Given the description of an element on the screen output the (x, y) to click on. 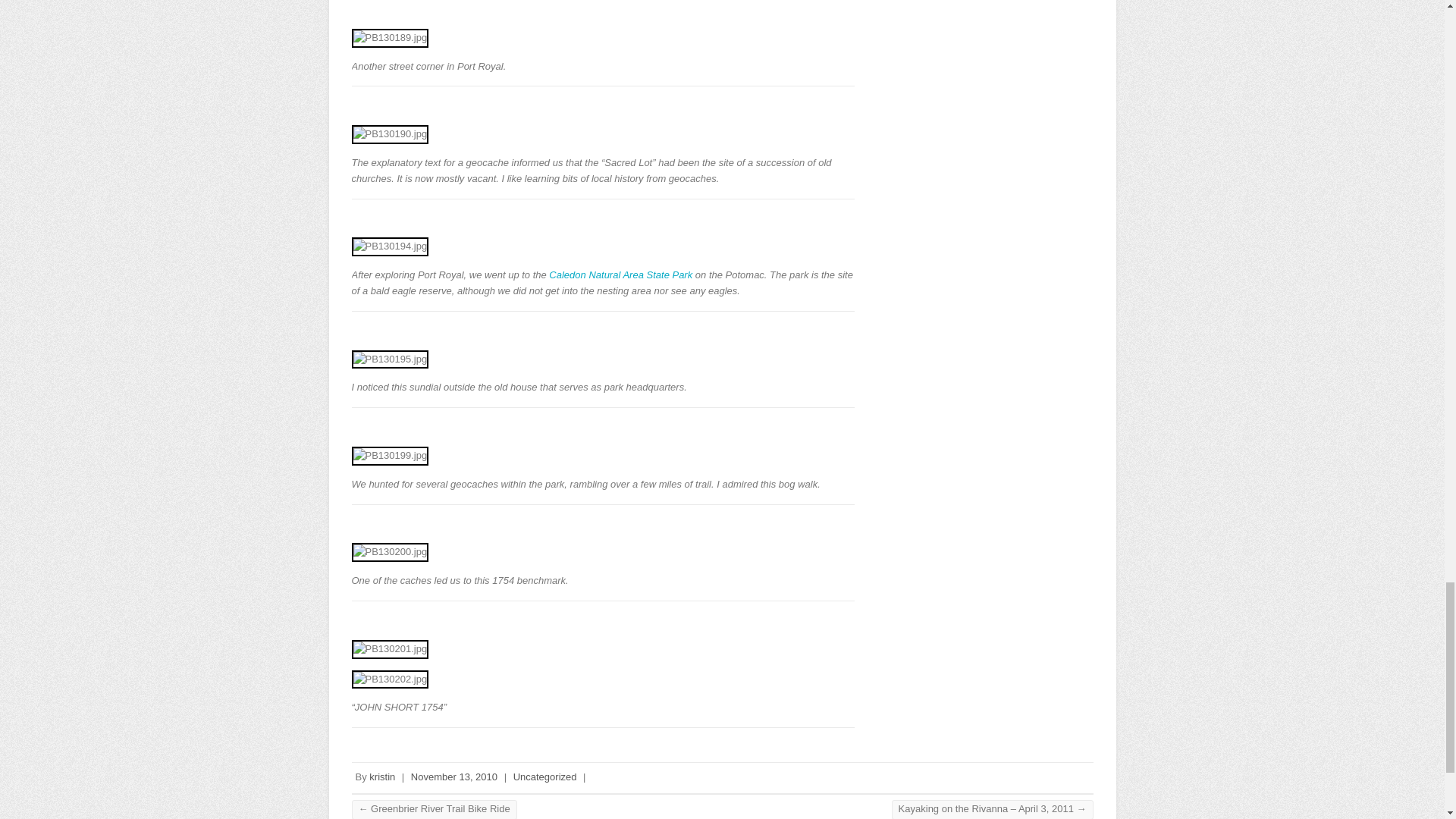
Caledon Natural Area State Park (620, 274)
November 13, 2010 (453, 776)
PB130189.jpg (390, 37)
Uncategorized (544, 776)
kristin (381, 776)
